Given the description of an element on the screen output the (x, y) to click on. 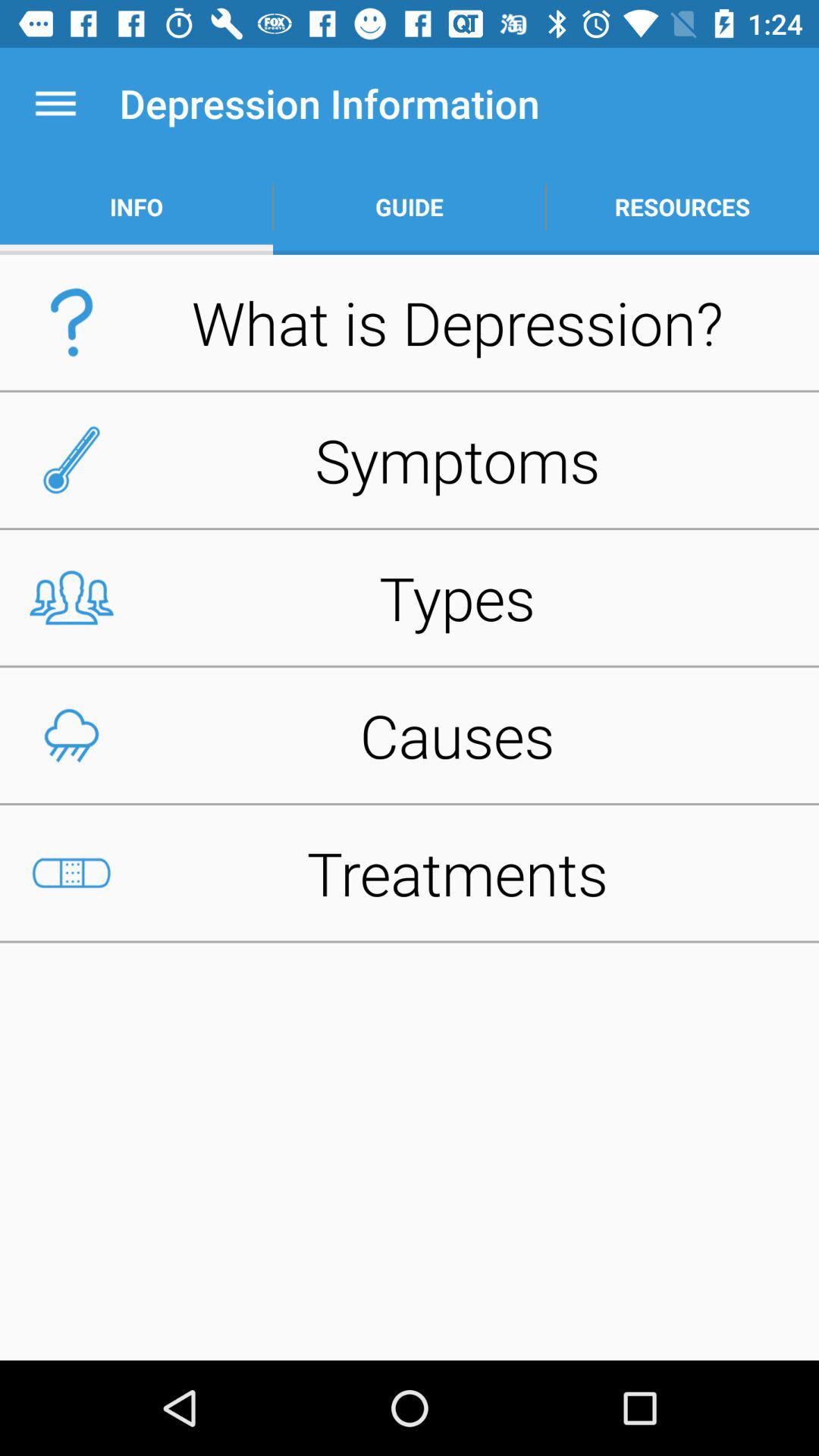
open app next to guide icon (136, 206)
